Given the description of an element on the screen output the (x, y) to click on. 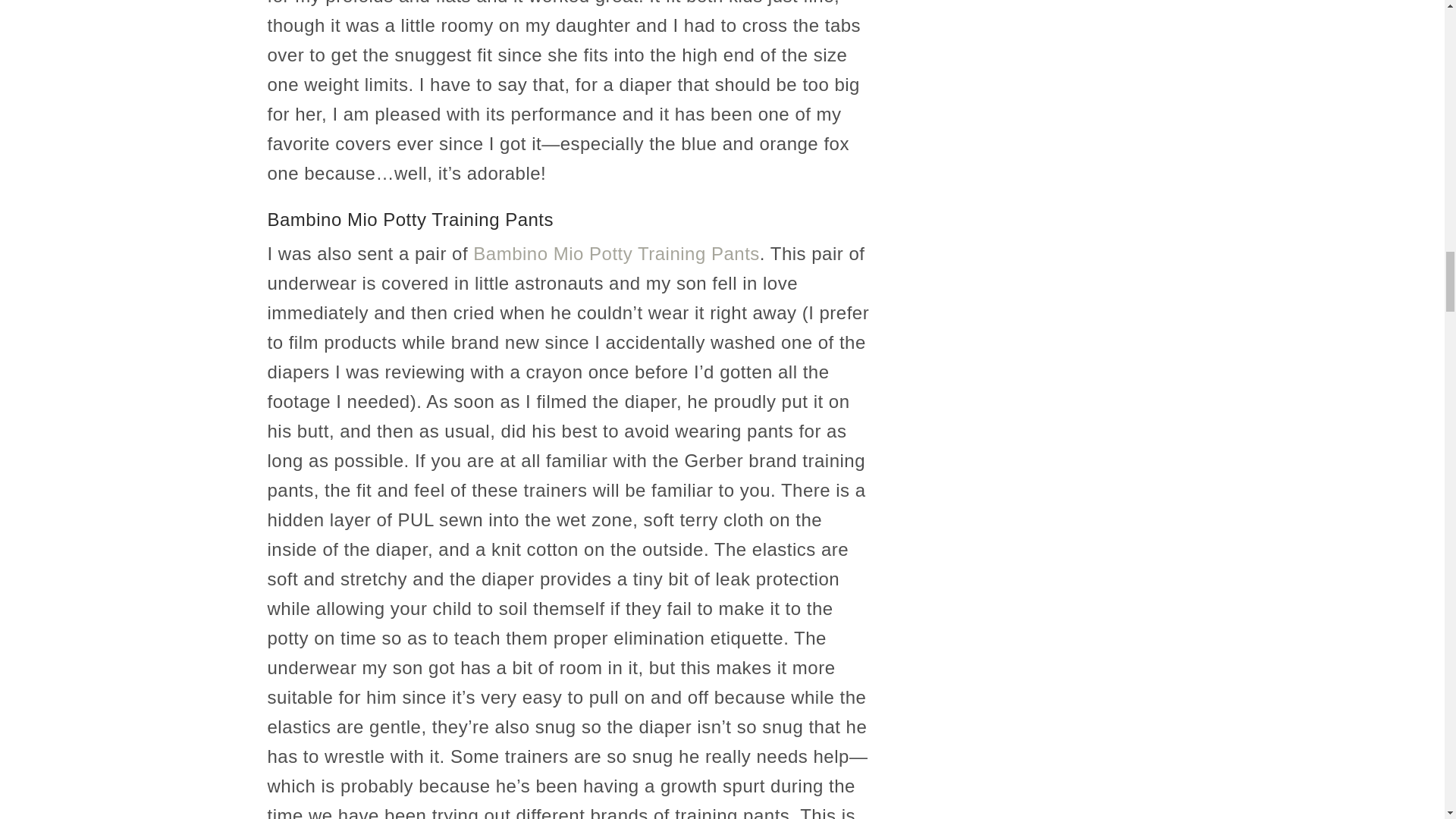
Bambino Mio Potty Training Pants (616, 253)
